Given the description of an element on the screen output the (x, y) to click on. 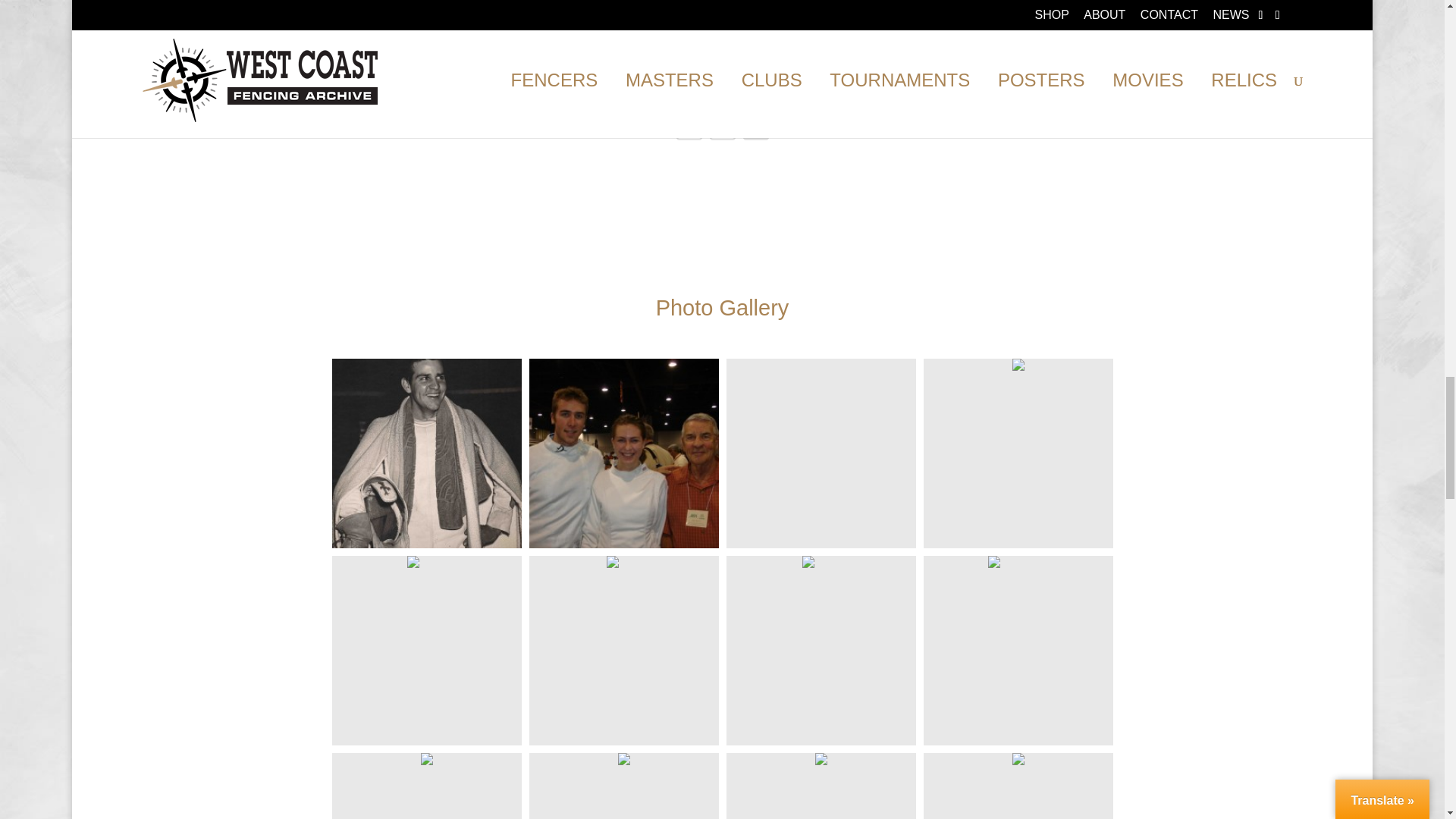
Page 1 (722, 127)
1 (722, 127)
